Given the description of an element on the screen output the (x, y) to click on. 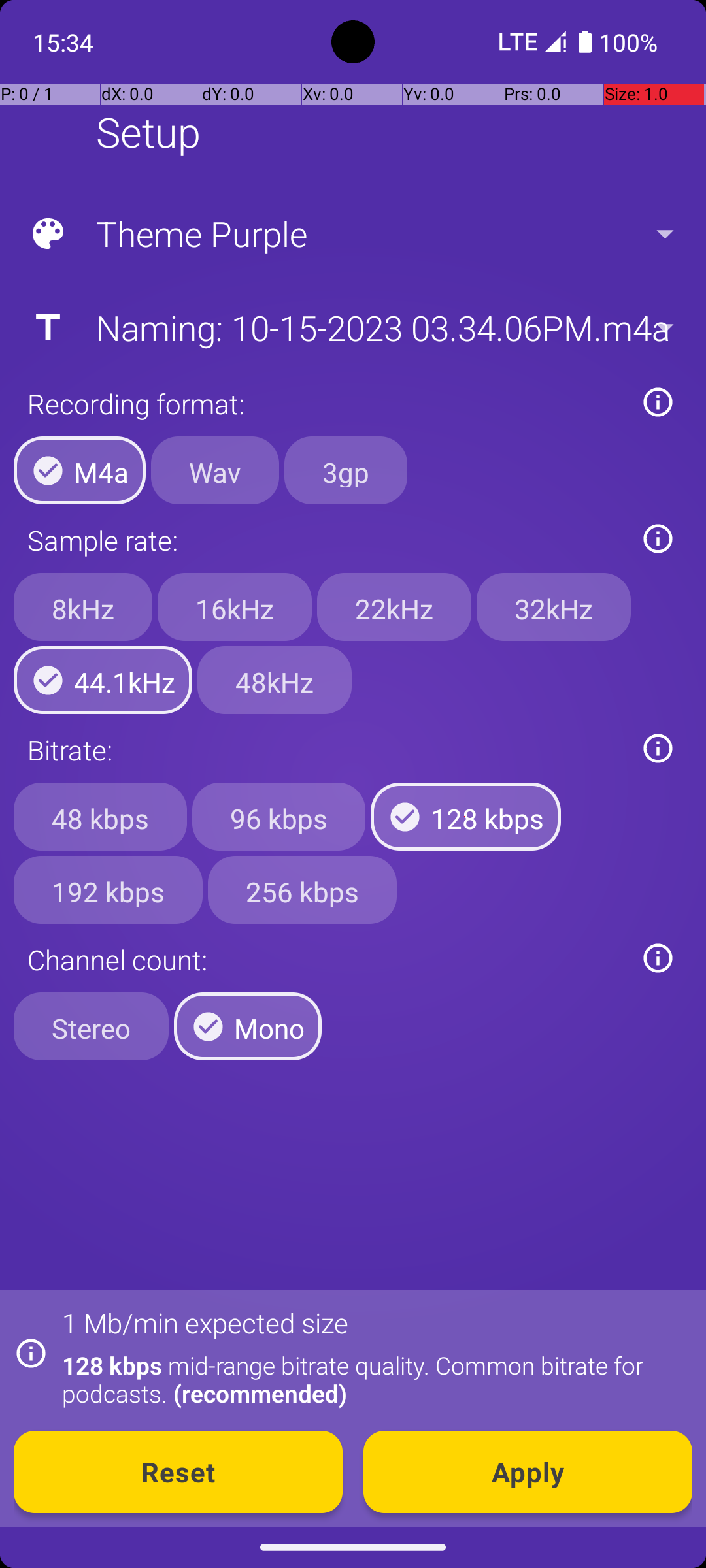
128 kbps mid-range bitrate quality. Common bitrate for podcasts. (recommended) Element type: android.widget.TextView (370, 1378)
Naming: 10-15-2023 03.34.06PM.m4a Element type: android.widget.TextView (352, 327)
